Given the description of an element on the screen output the (x, y) to click on. 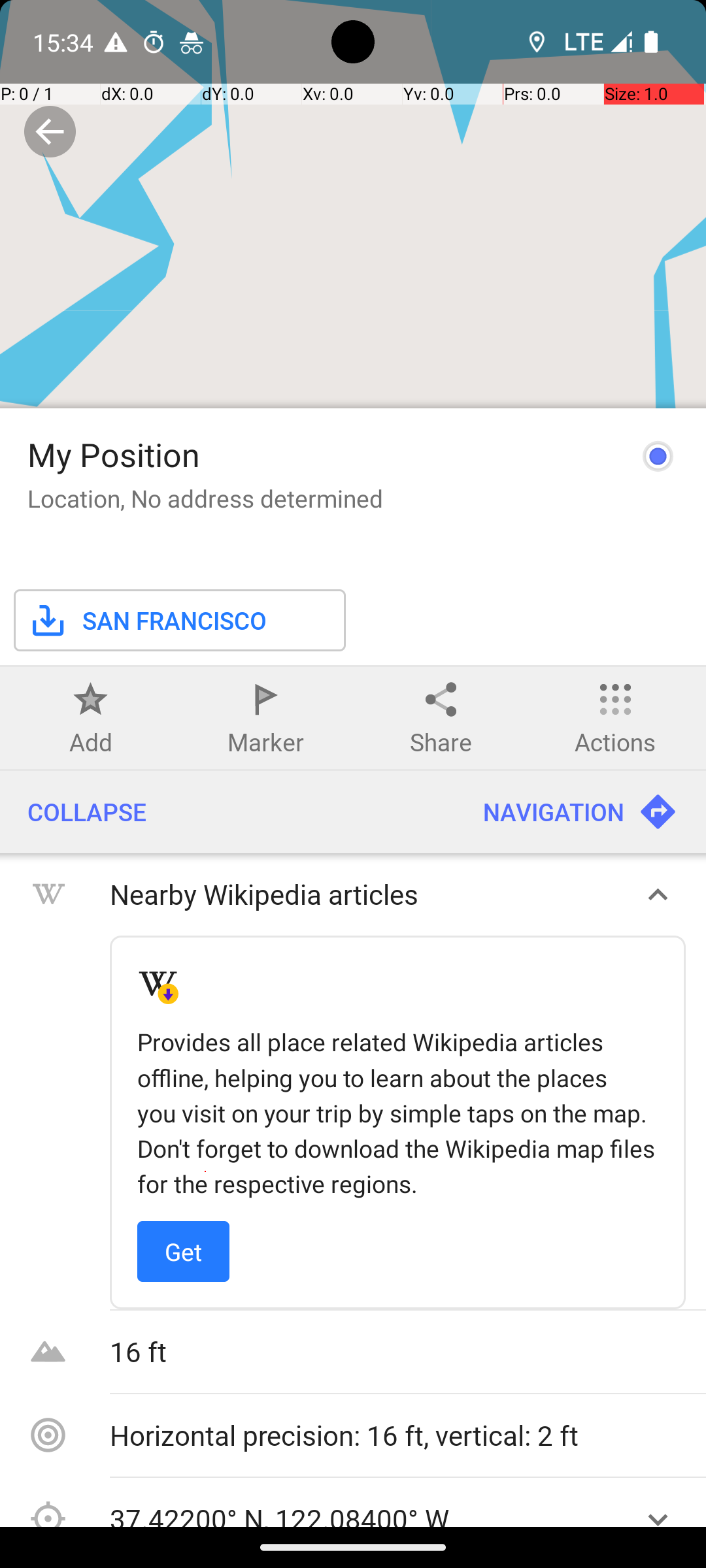
Map Element type: android.view.View (353, 763)
Collapse Element type: android.widget.ImageView (49, 131)
My Position Element type: android.widget.TextView (113, 684)
Location, No address determined Element type: android.widget.TextView (205, 728)
COLLAPSE Element type: android.widget.TextView (227, 1042)
NAVIGATION Element type: android.widget.TextView (580, 1042)
Add Element type: android.widget.TextView (90, 972)
Marker Element type: android.widget.TextView (265, 972)
Provides all place related Wikipedia articles offline, helping you to learn about the places you visit on your trip by simple taps on the map. Don't forget to download the Wikipedia map files for the respective regions. Element type: android.widget.TextView (397, 1342)
SAN FRANCISCO Element type: android.widget.TextView (146, 850)
Nearby Wikipedia articles Element type: android.widget.TextView (364, 1124)
Get Element type: android.widget.TextView (183, 1481)
